Given the description of an element on the screen output the (x, y) to click on. 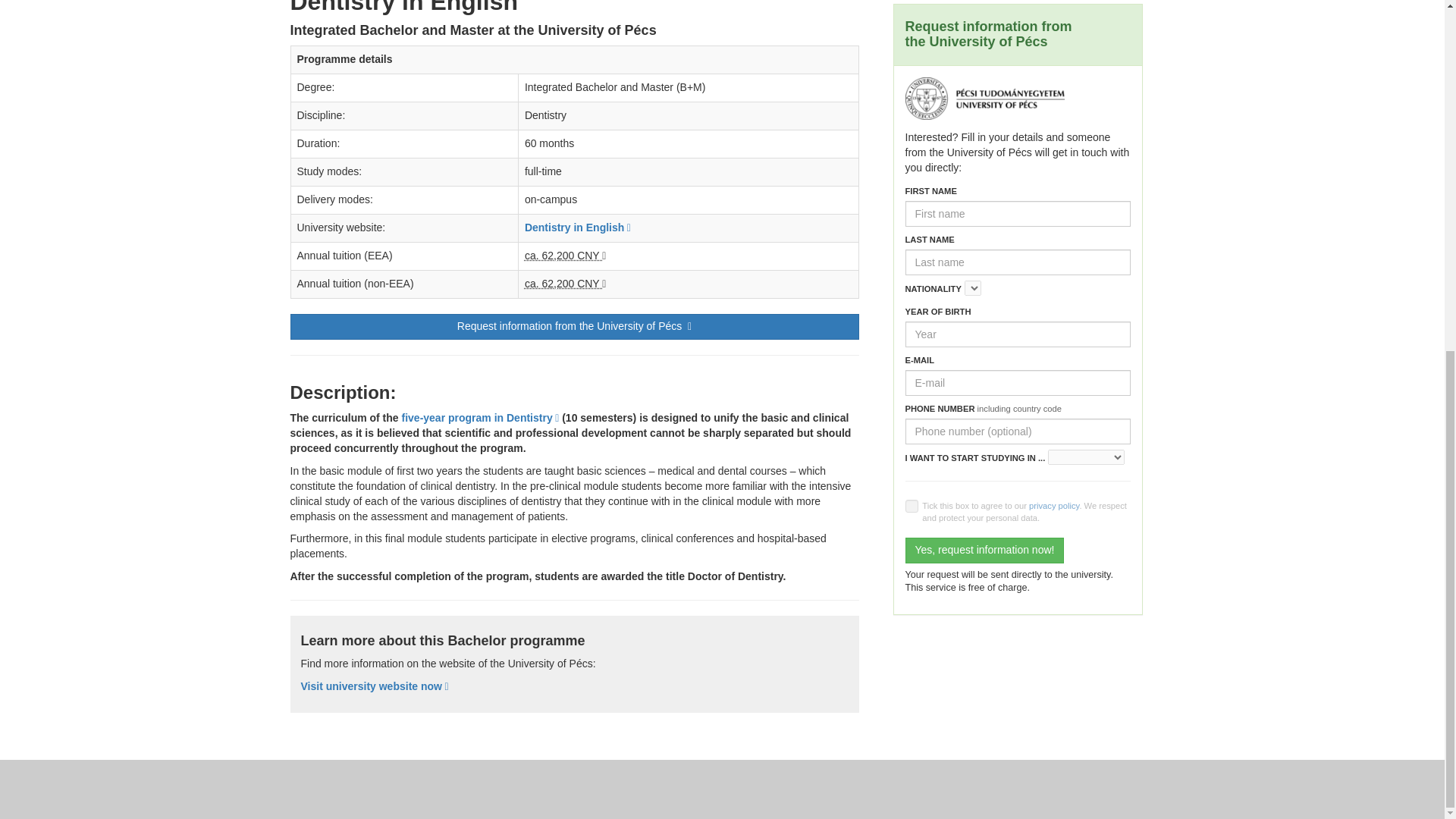
Dentistry in English (577, 227)
five-year program in Dentistry (480, 417)
privacy policy (1053, 505)
Yes, request information now! (984, 550)
Visit university website now (373, 686)
Visit university website (577, 227)
Visit university website (373, 686)
